Given the description of an element on the screen output the (x, y) to click on. 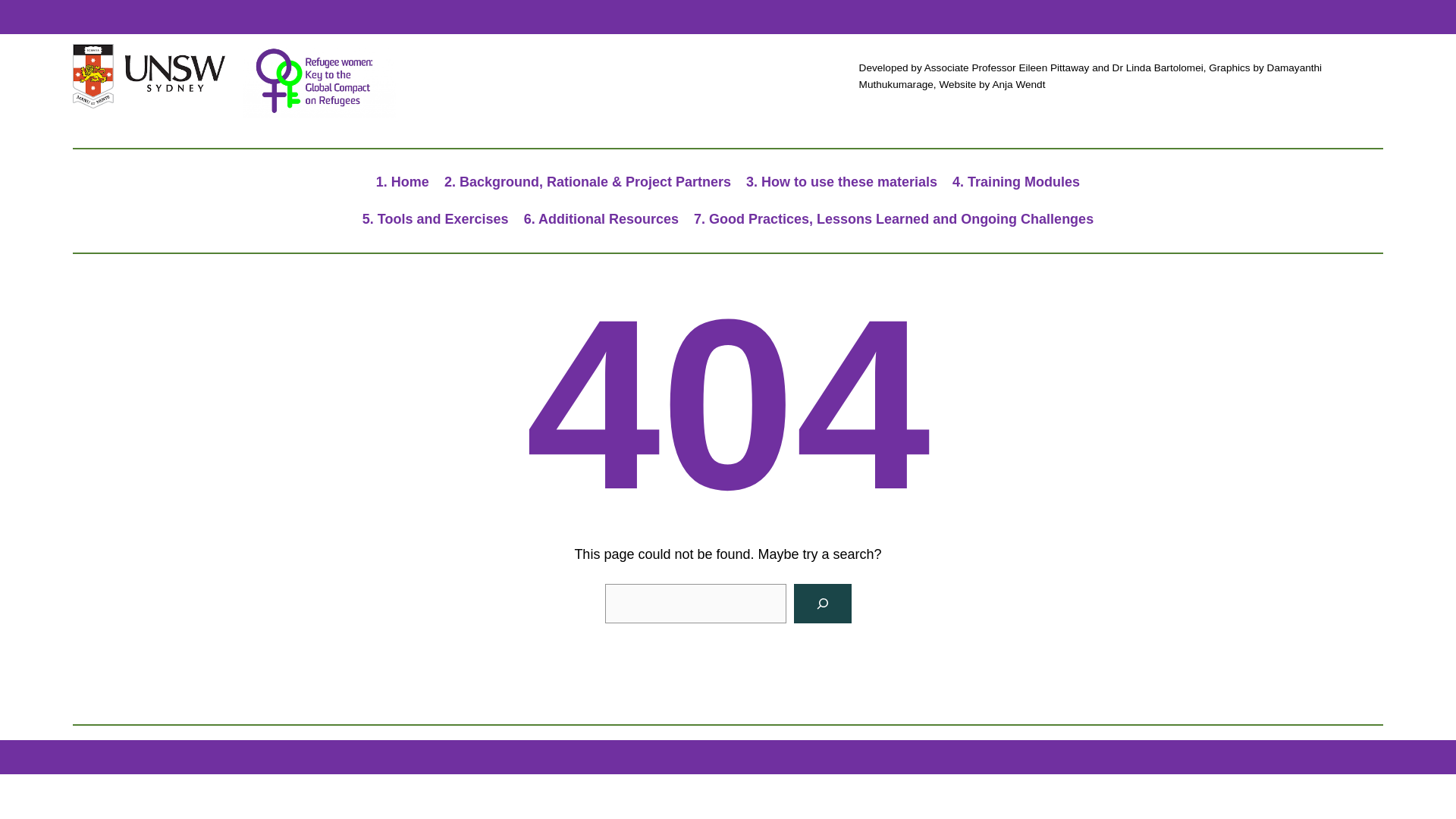
5. Tools and Exercises (435, 219)
3. How to use these materials (841, 182)
7. Good Practices, Lessons Learned and Ongoing Challenges (893, 219)
4. Training Modules (1016, 182)
6. Additional Resources (601, 219)
1. Home (402, 182)
